Given the description of an element on the screen output the (x, y) to click on. 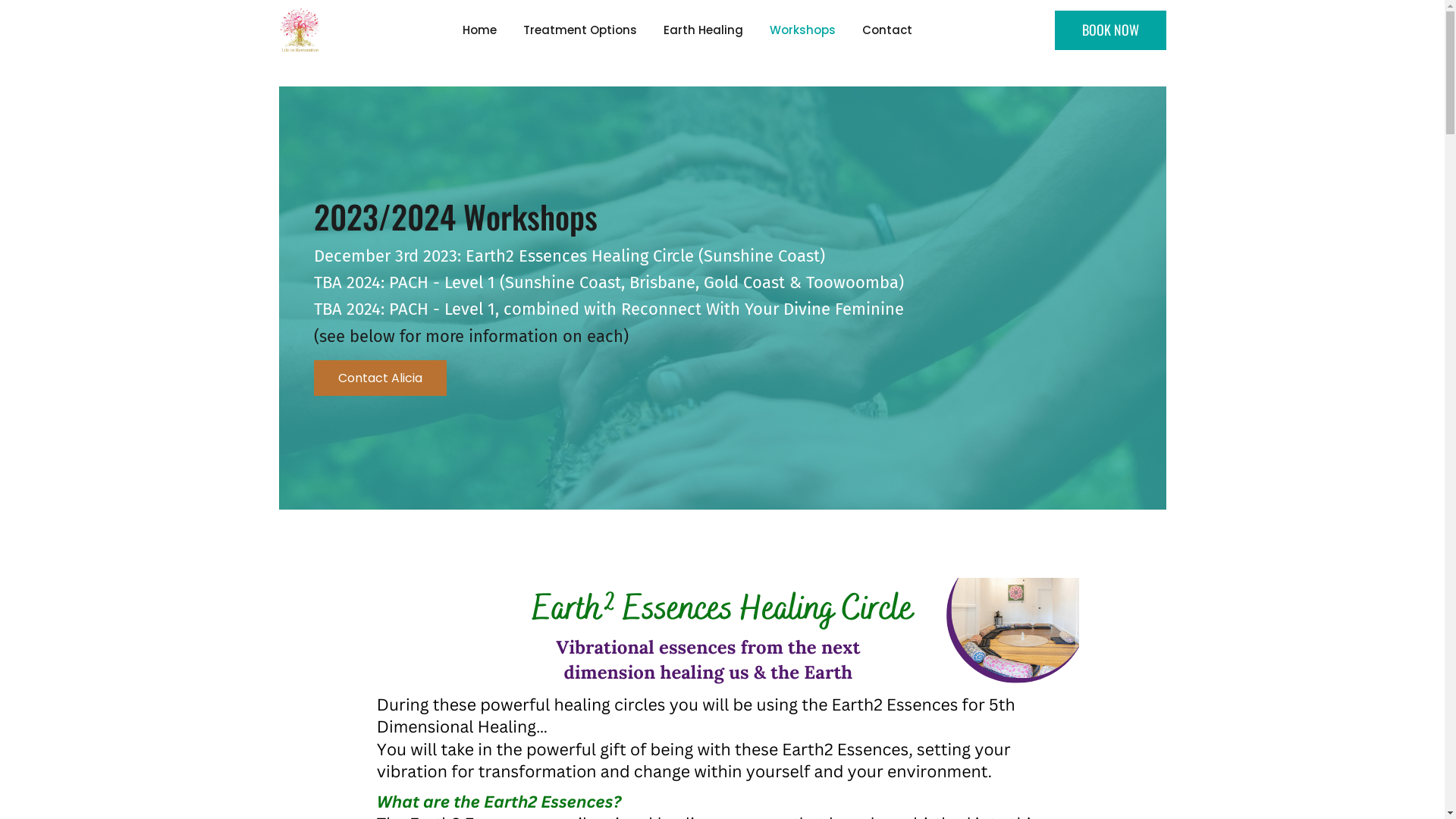
BOOK NOW Element type: text (1109, 30)
Treatment Options Element type: text (580, 29)
Home Element type: text (479, 29)
Contact Alicia Element type: text (379, 377)
Workshops Element type: text (801, 29)
Earth Healing Element type: text (702, 29)
Contact Element type: text (886, 29)
